Given the description of an element on the screen output the (x, y) to click on. 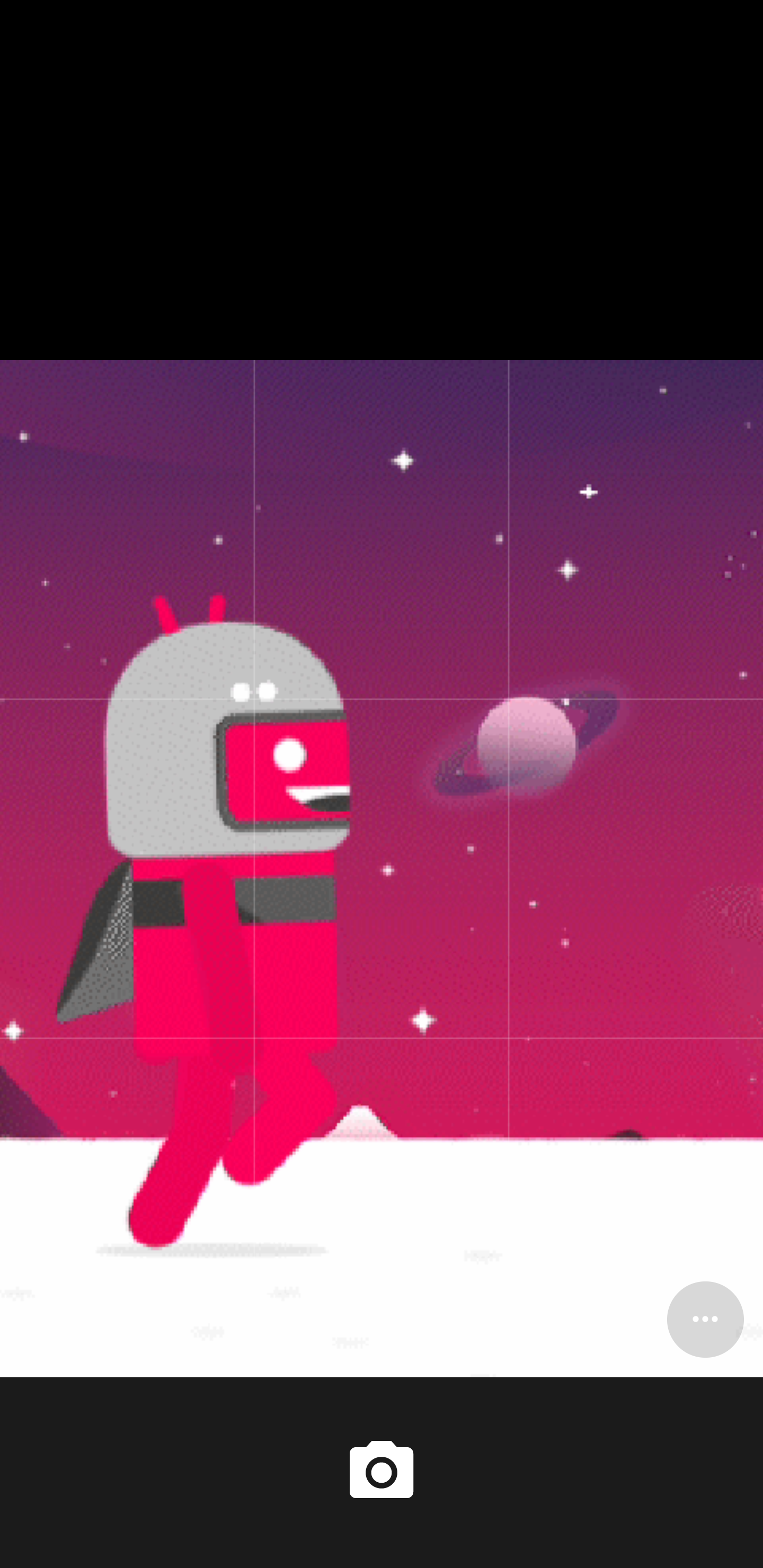
Options (704, 1319)
Shutter (381, 1472)
